Given the description of an element on the screen output the (x, y) to click on. 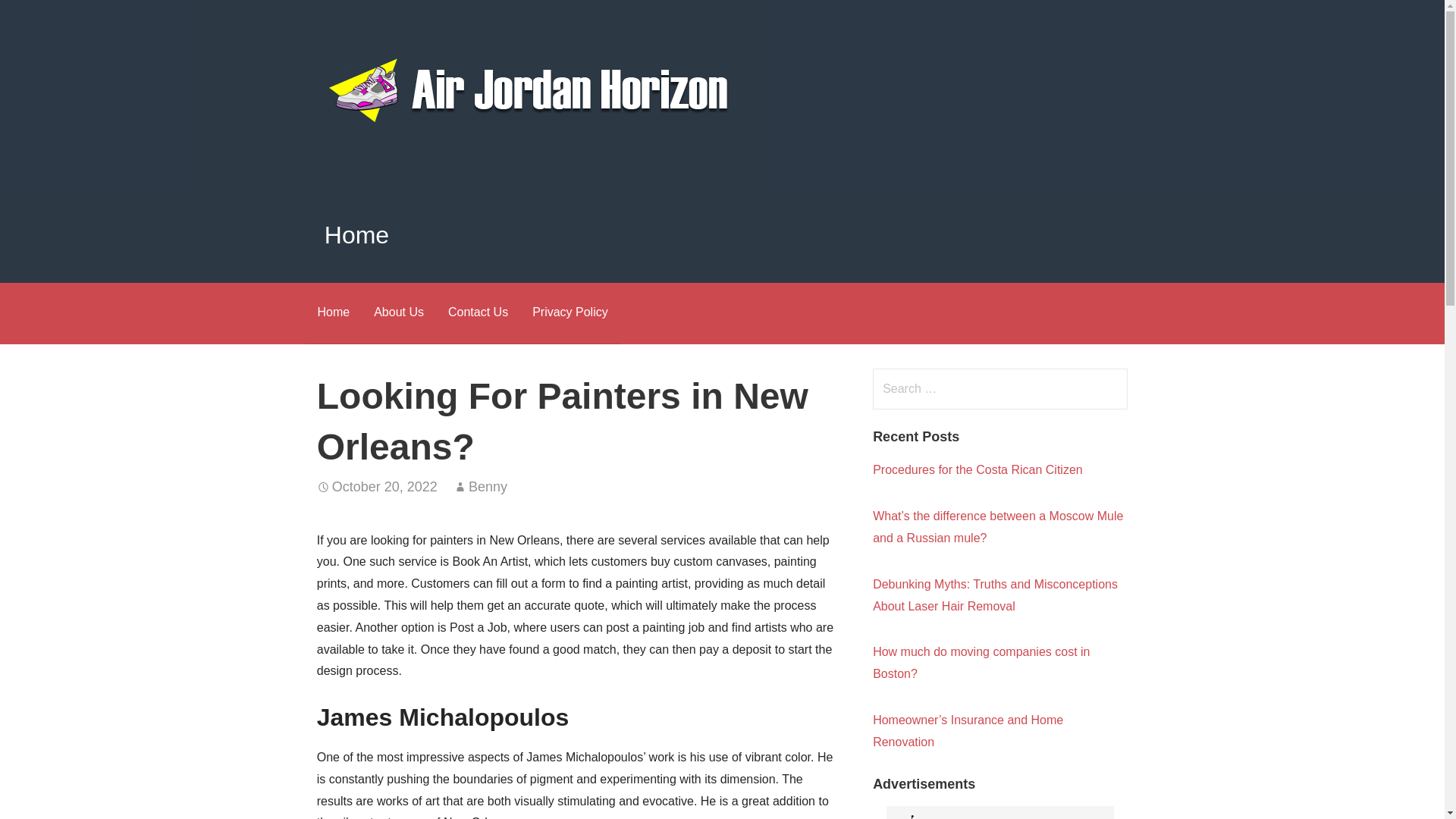
About Us (398, 312)
Privacy Policy (569, 312)
Search (42, 18)
Benny (487, 486)
Procedures for the Costa Rican Citizen (977, 469)
How much do moving companies cost in Boston? (980, 662)
Posts by Benny (487, 486)
Home (332, 312)
Contact Us (477, 312)
